Given the description of an element on the screen output the (x, y) to click on. 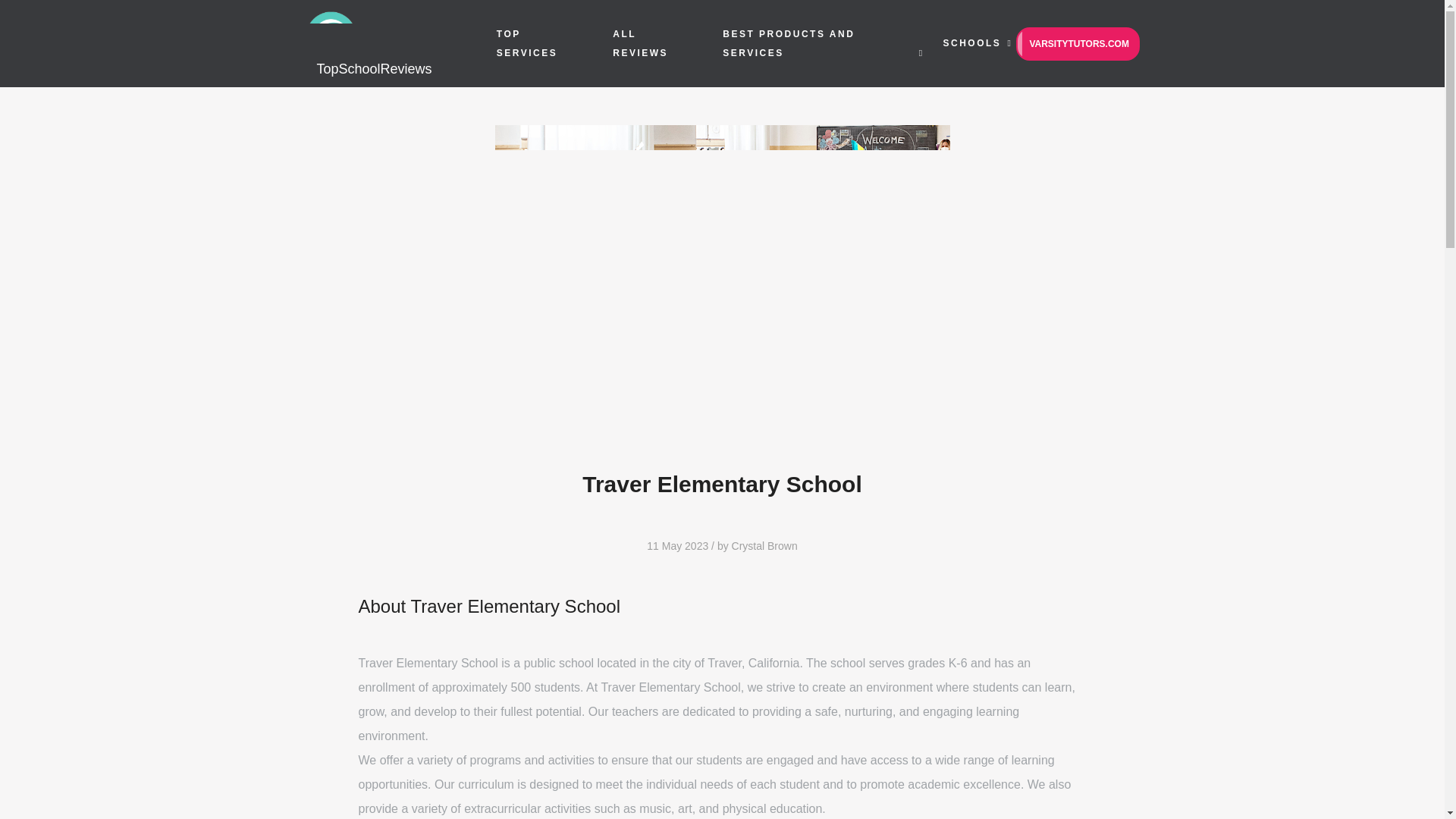
SCHOOLS (972, 42)
TOP SERVICES (526, 43)
BEST PRODUCTS AND SERVICES (788, 43)
VARSITYTUTORS.COM (1077, 43)
ALL REVIEWS (640, 43)
TopSchoolReviews (392, 43)
